Given the description of an element on the screen output the (x, y) to click on. 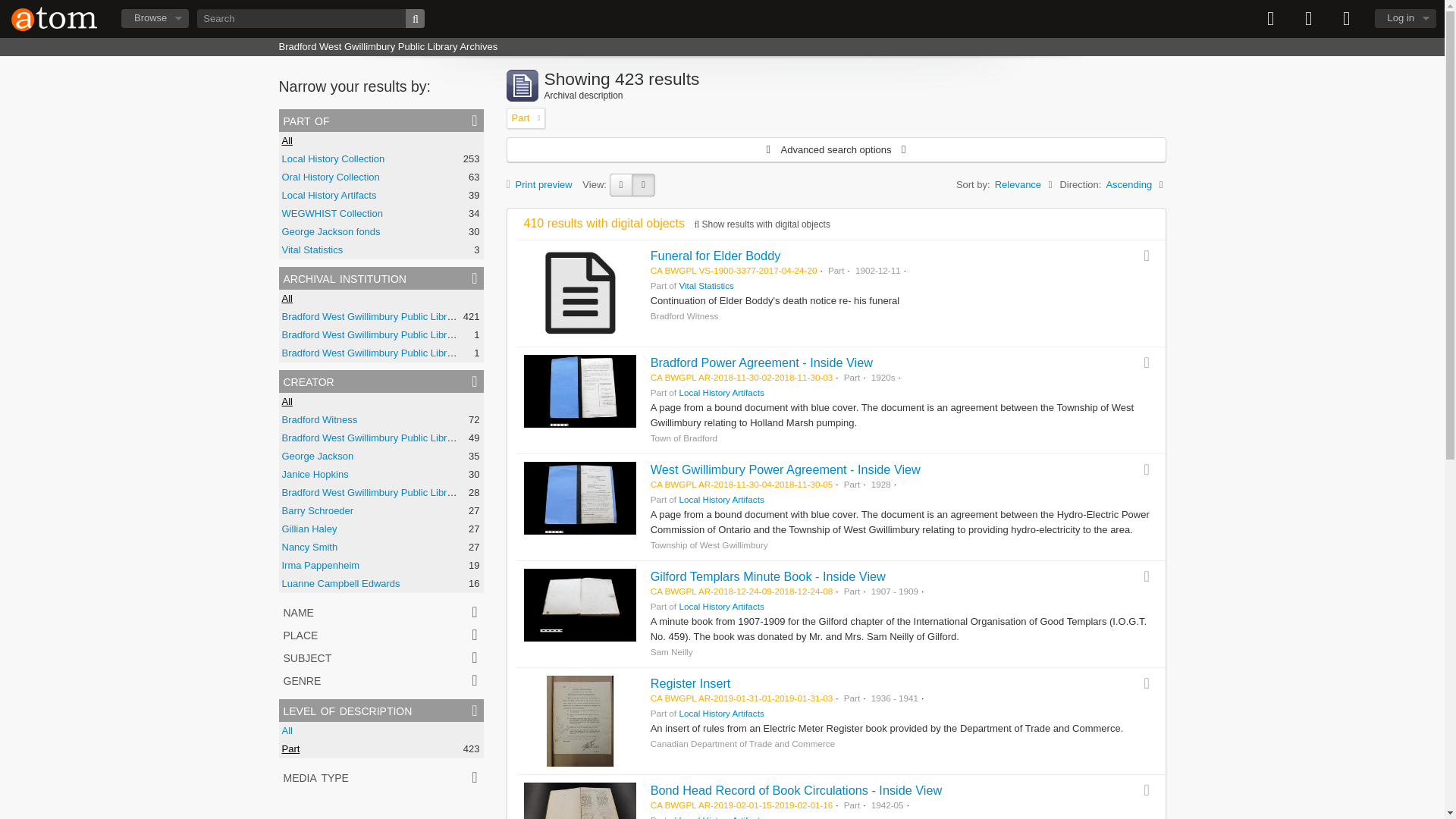
Vital Statistics (312, 249)
Local History Artifacts (329, 194)
part of (381, 119)
Local History Collection (333, 158)
Language (1308, 18)
Clipboard (1271, 18)
Browse (154, 18)
All (287, 140)
Oral History Collection (331, 176)
WEGWHIST Collection (332, 213)
archival institution (381, 277)
Quick links (1346, 18)
George Jackson fonds (331, 231)
Log in (1404, 18)
